Given the description of an element on the screen output the (x, y) to click on. 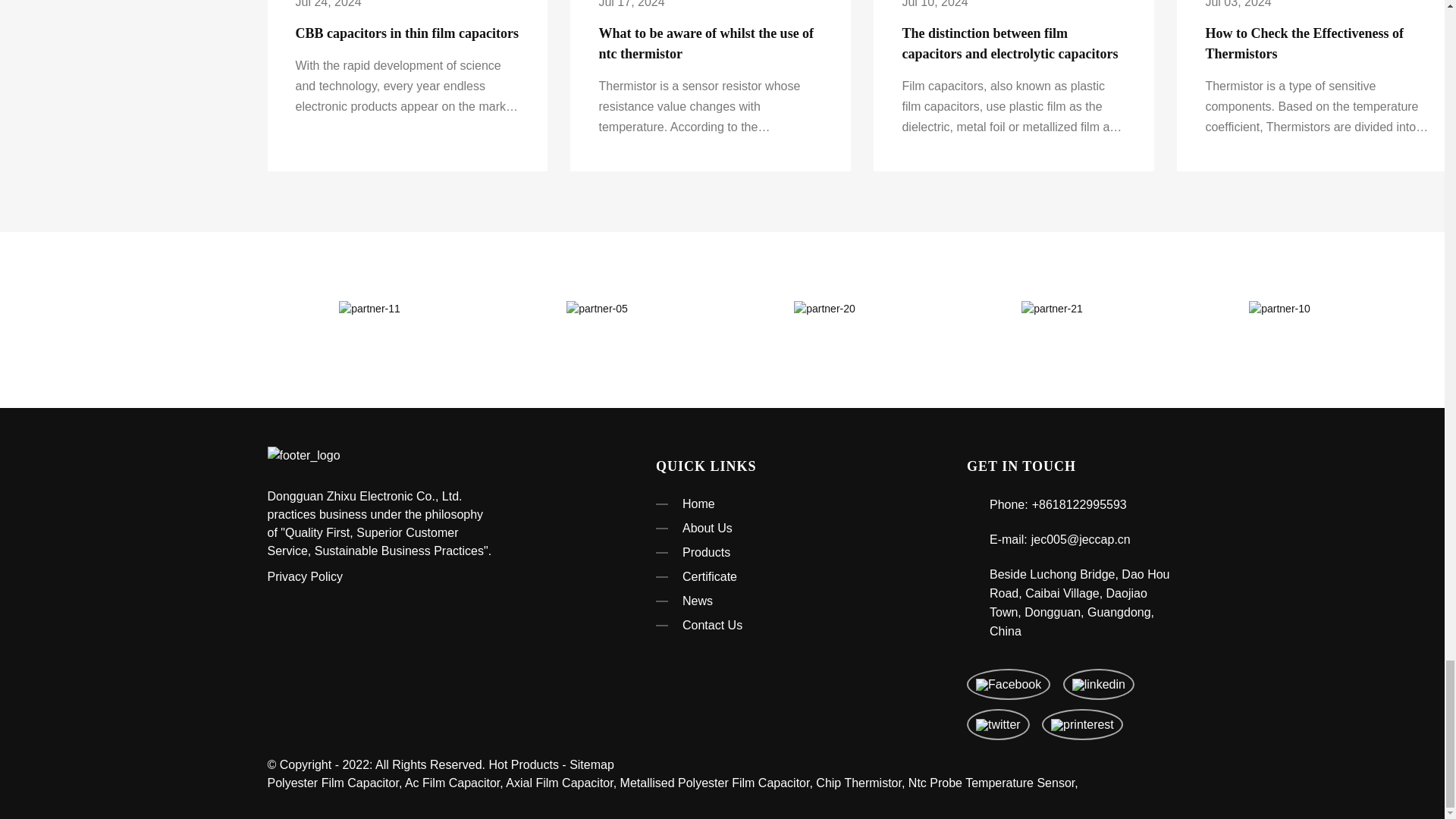
Axial Film Capacitor (558, 782)
Metallised Polyester Film Capacitor (714, 782)
Ntc Probe Temperature Sensor (991, 782)
Ac Film Capacitor (451, 782)
Polyester Film Capacitor (331, 782)
Chip Thermistor (858, 782)
